Given the description of an element on the screen output the (x, y) to click on. 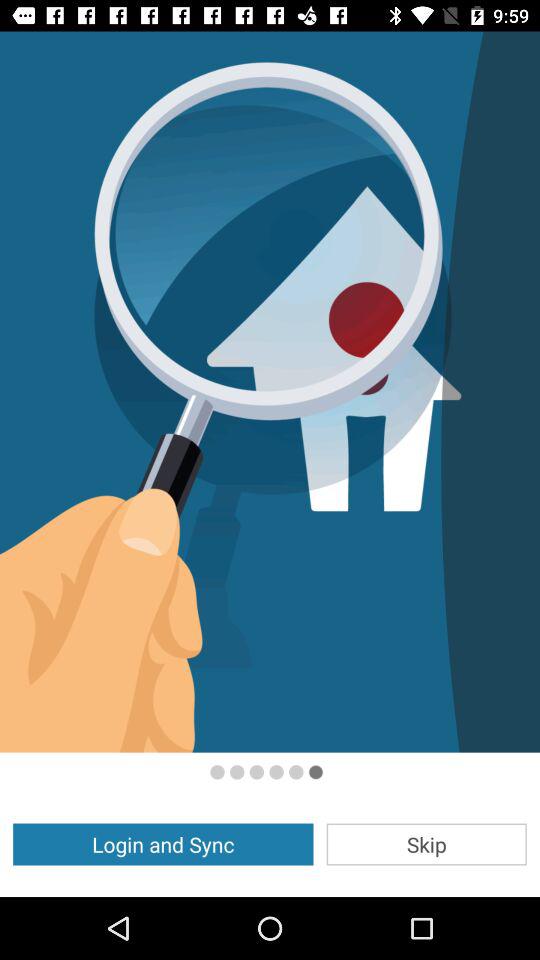
press the app to the right of the login and sync icon (426, 844)
